Given the description of an element on the screen output the (x, y) to click on. 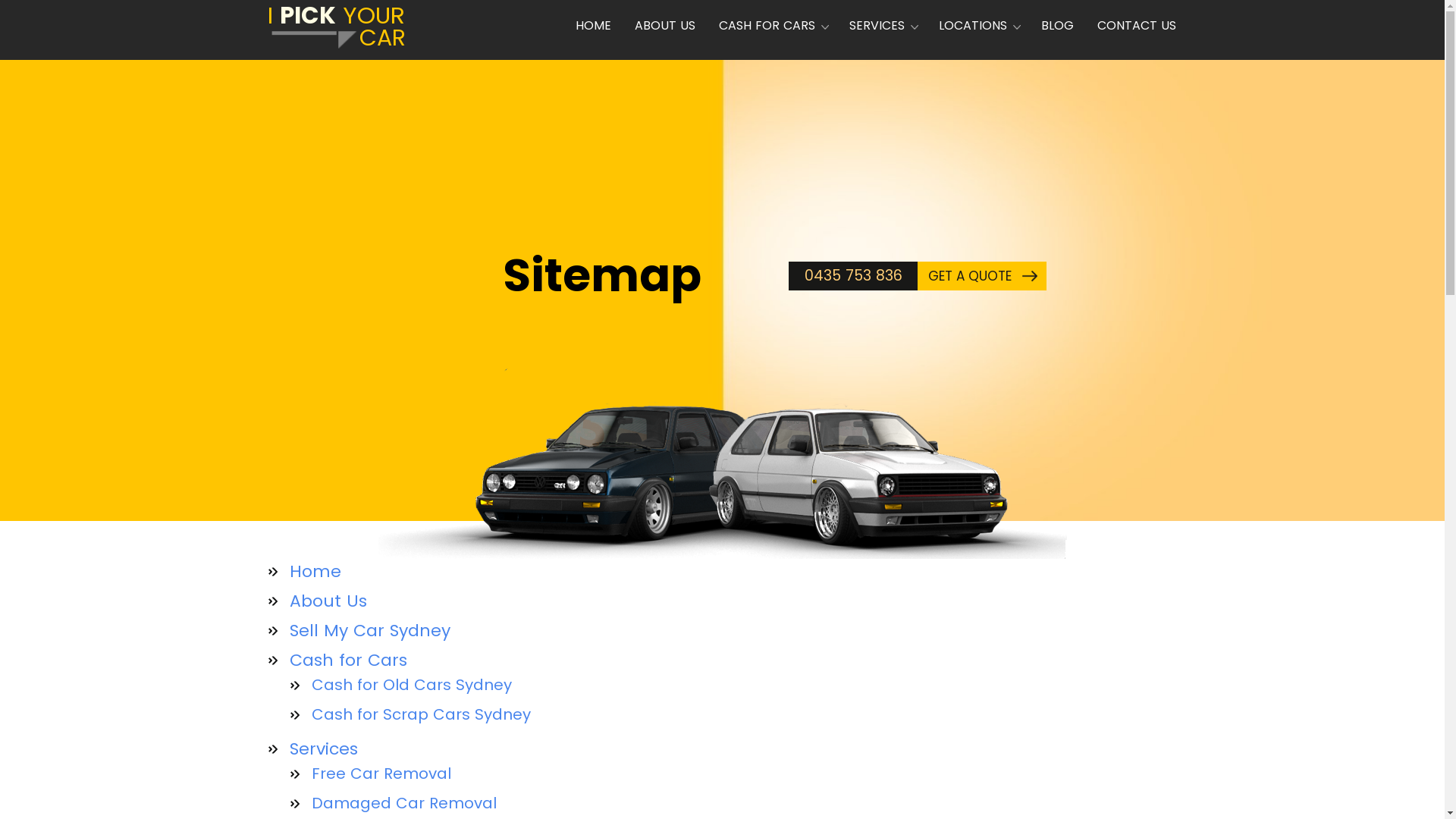
BLOG Element type: text (1057, 25)
CASH FOR CARS Element type: text (771, 25)
LOCATIONS Element type: text (977, 25)
SERVICES Element type: text (881, 25)
CONTACT US Element type: text (1132, 25)
Sell My Car Sydney Element type: text (369, 630)
Cash for Cars Element type: text (357, 659)
ABOUT US Element type: text (664, 25)
Home Element type: text (315, 571)
HOME Element type: text (596, 25)
Cash for Old Cars Sydney Element type: text (420, 684)
About Us Element type: text (328, 600)
Cash for Scrap Cars Sydney Element type: text (429, 713)
Services Element type: text (332, 748)
I PICK YOUR
CAR Element type: text (337, 29)
0435 753 836 Element type: text (852, 275)
Free Car Removal Element type: text (389, 773)
GET A QUOTE Element type: text (981, 275)
Damaged Car Removal Element type: text (412, 802)
